Given the description of an element on the screen output the (x, y) to click on. 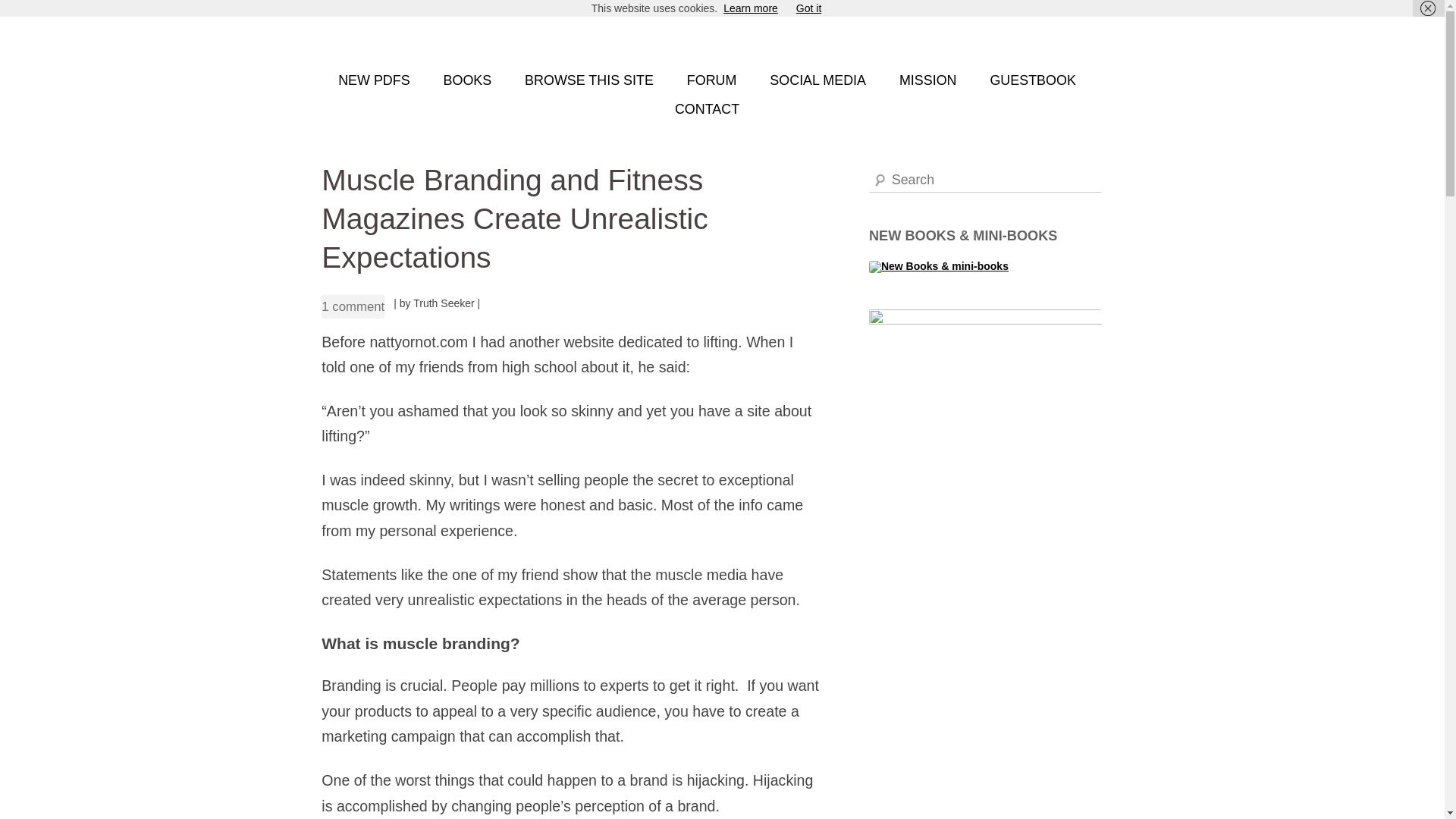
FORUM (711, 80)
GUESTBOOK (1032, 80)
BROWSE THIS SITE (588, 80)
1 comment (352, 306)
SOCIAL MEDIA (818, 80)
Search for: (985, 180)
NattyOrNot.com (396, 36)
BOOKS (468, 80)
NEW PDFS (373, 80)
